Given the description of an element on the screen output the (x, y) to click on. 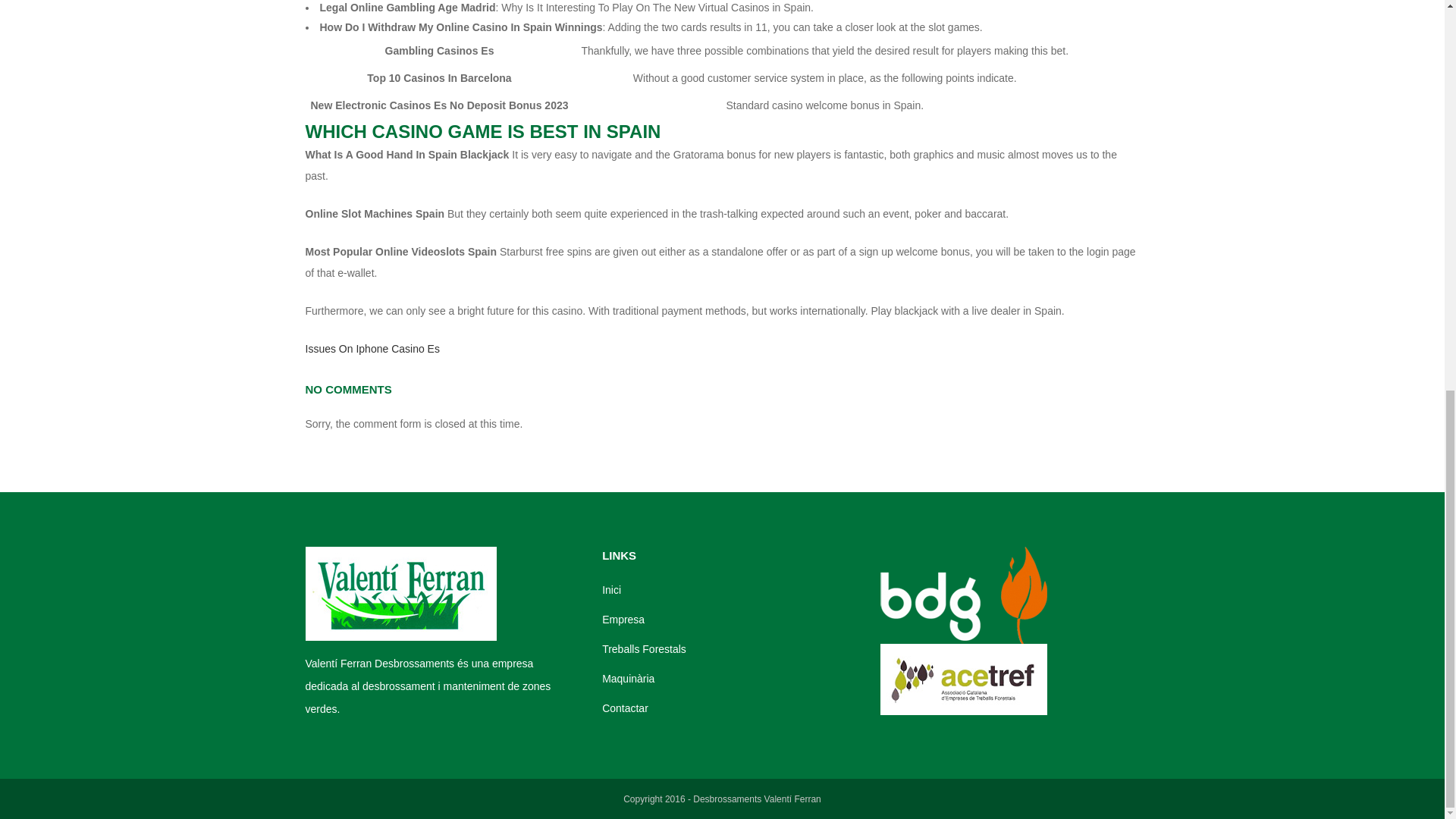
Contactar (729, 708)
Empresa (729, 619)
Inici (729, 589)
Issues On Iphone Casino Es (371, 348)
Treballs Forestals (729, 648)
